Given the description of an element on the screen output the (x, y) to click on. 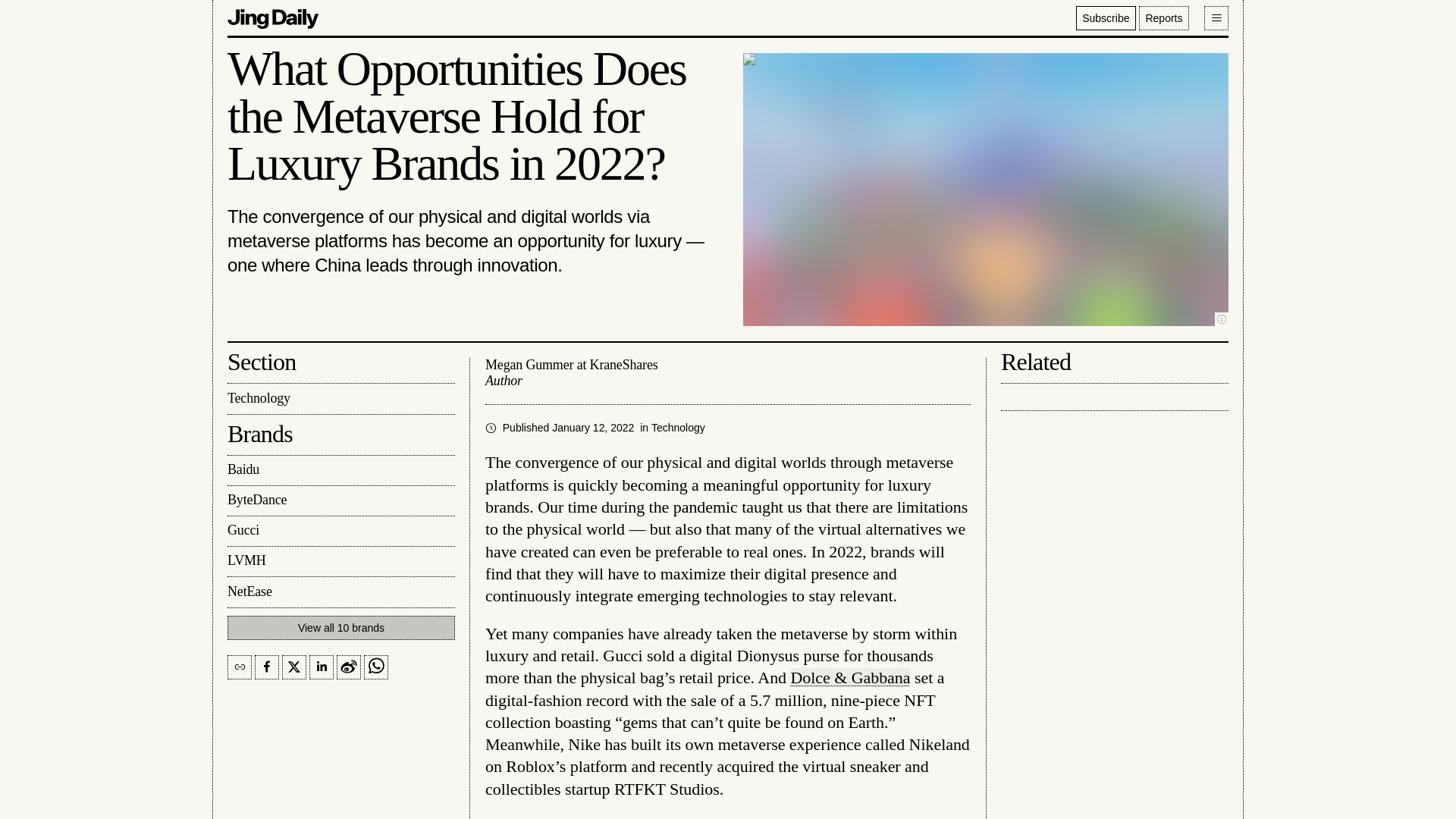
Baidu (340, 470)
LVMH (340, 562)
ByteDance (340, 501)
ByteDance (340, 501)
Technology (340, 399)
NetEase (340, 592)
NetEase (340, 592)
Technology (677, 427)
Reports (1163, 17)
Jing Daily (272, 17)
View all 10 brands (340, 627)
Gucci (340, 531)
Reports (1163, 17)
Baidu (340, 470)
Gucci (340, 531)
